Given the description of an element on the screen output the (x, y) to click on. 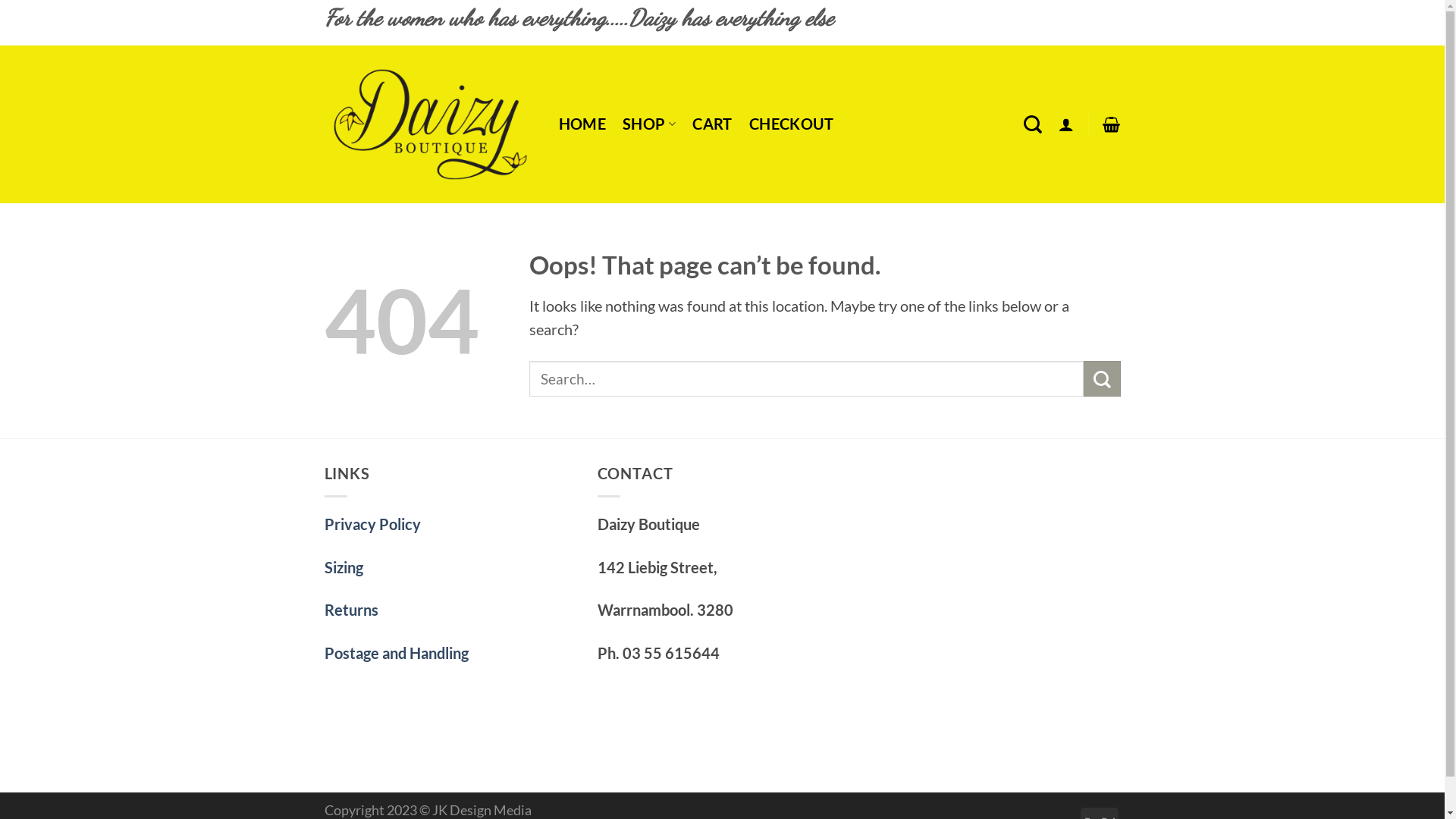
Privacy Policy Element type: text (372, 524)
SHOP Element type: text (648, 124)
Cart Element type: hover (1111, 124)
Daizy Boutique Element type: hover (430, 123)
Postage and Handling Element type: text (396, 653)
Returns Element type: text (351, 609)
CART Element type: text (712, 124)
HOME Element type: text (581, 124)
CHECKOUT Element type: text (791, 124)
Sizing Element type: text (343, 567)
